Given the description of an element on the screen output the (x, y) to click on. 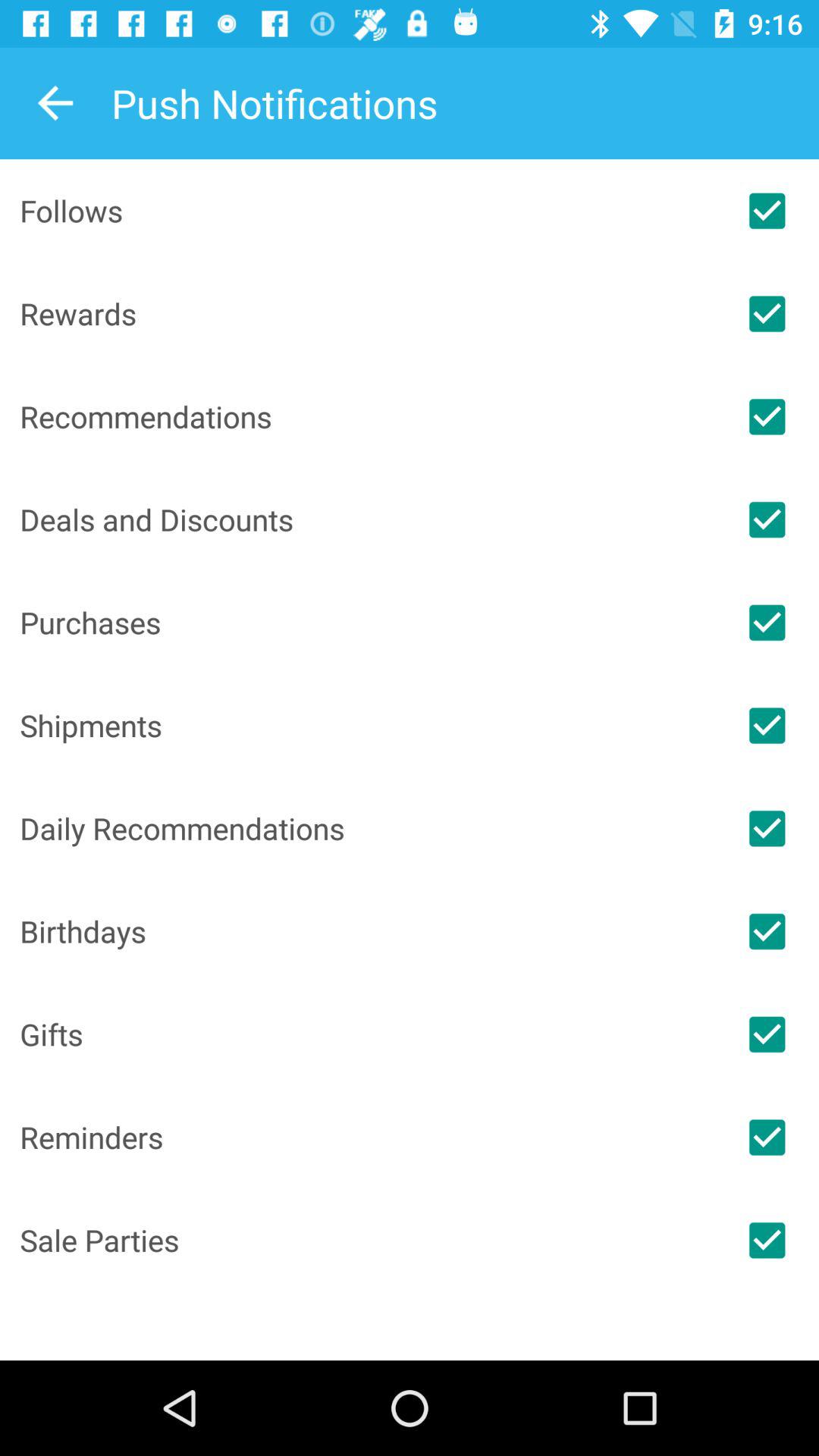
toggle shipment notifications (767, 725)
